Given the description of an element on the screen output the (x, y) to click on. 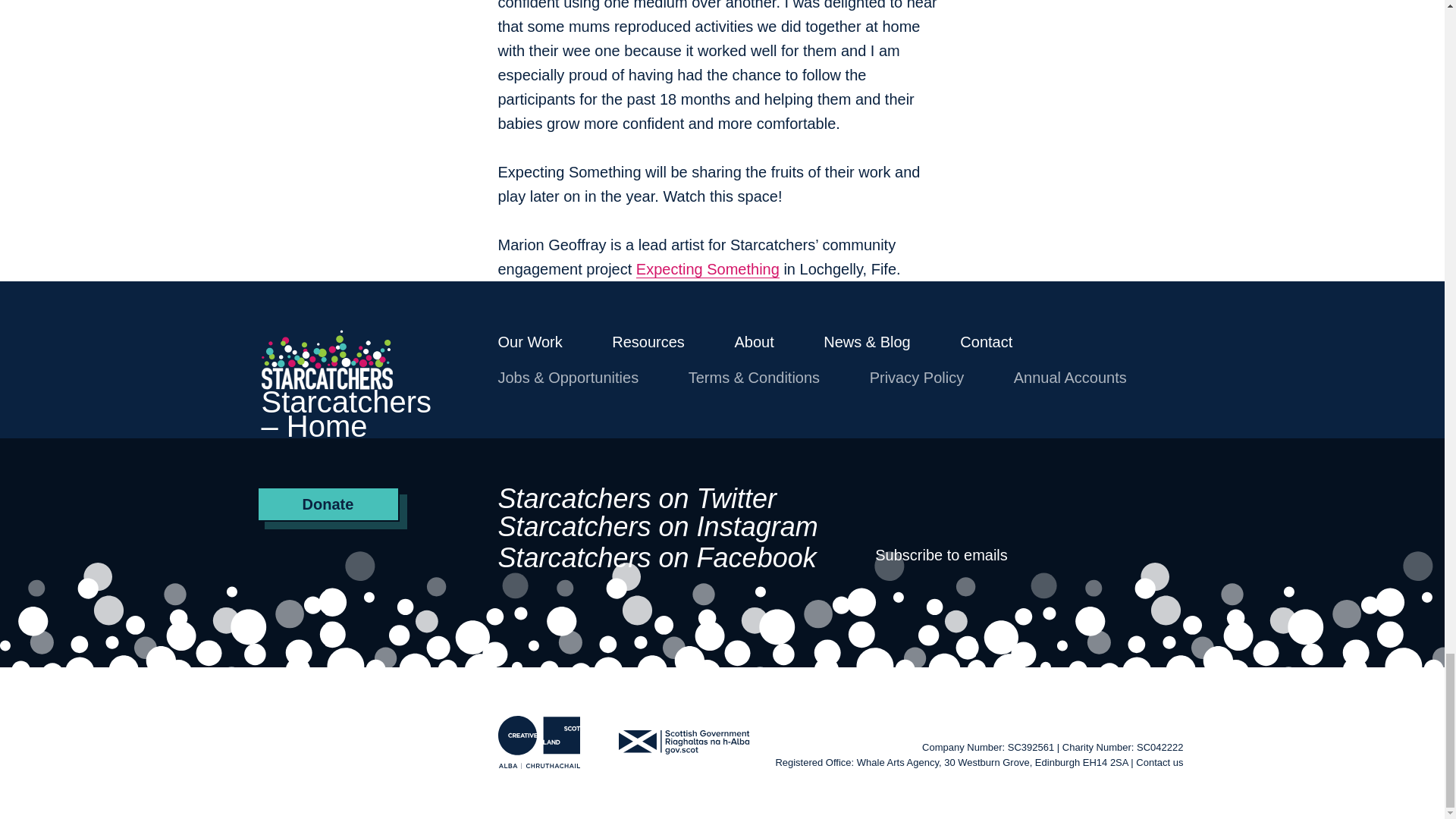
Expecting Something (707, 269)
Resources (647, 341)
Donate (327, 503)
Contact (985, 341)
Our Work (529, 341)
Privacy Policy (916, 377)
About (753, 341)
Annual Accounts (1069, 377)
